Given the description of an element on the screen output the (x, y) to click on. 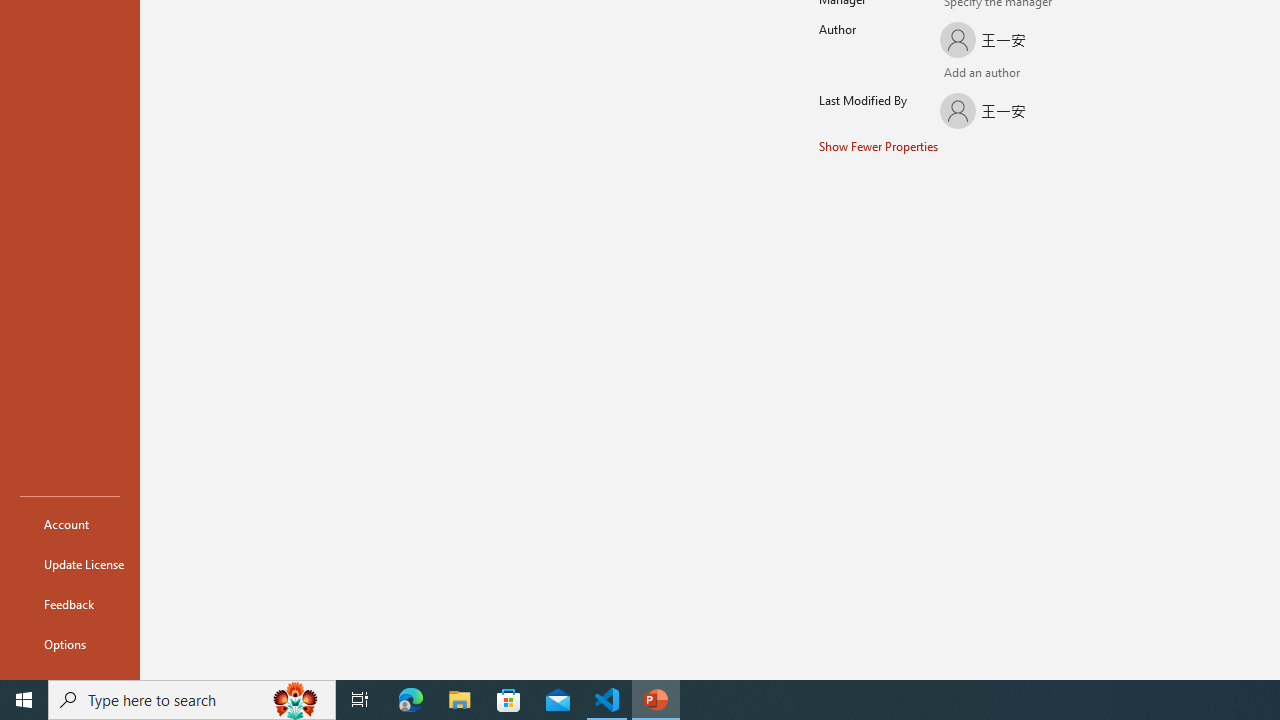
Options (69, 643)
Show Fewer Properties (879, 146)
Browse Address Book (1047, 75)
Add an author (955, 74)
Feedback (69, 603)
Account (69, 523)
Update License (69, 563)
Verify Names (983, 74)
